Given the description of an element on the screen output the (x, y) to click on. 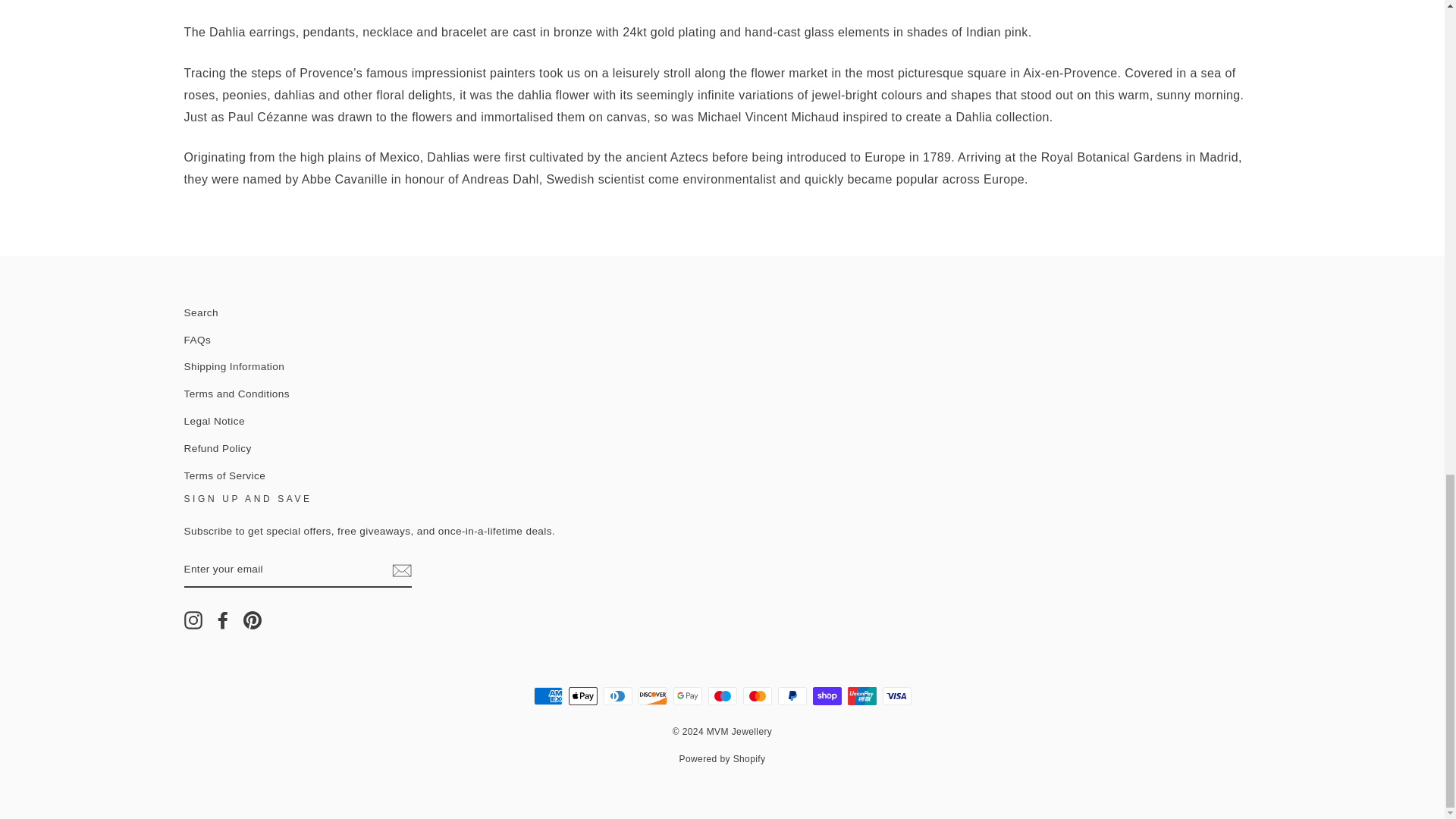
Maestro (721, 696)
PayPal (791, 696)
American Express (548, 696)
Mastercard (756, 696)
Apple Pay (582, 696)
Diners Club (617, 696)
MVM Jewellery on Pinterest (251, 619)
Discover (652, 696)
MVM Jewellery on Facebook (222, 619)
Shop Pay (826, 696)
Google Pay (686, 696)
MVM Jewellery on Instagram (192, 619)
